Given the description of an element on the screen output the (x, y) to click on. 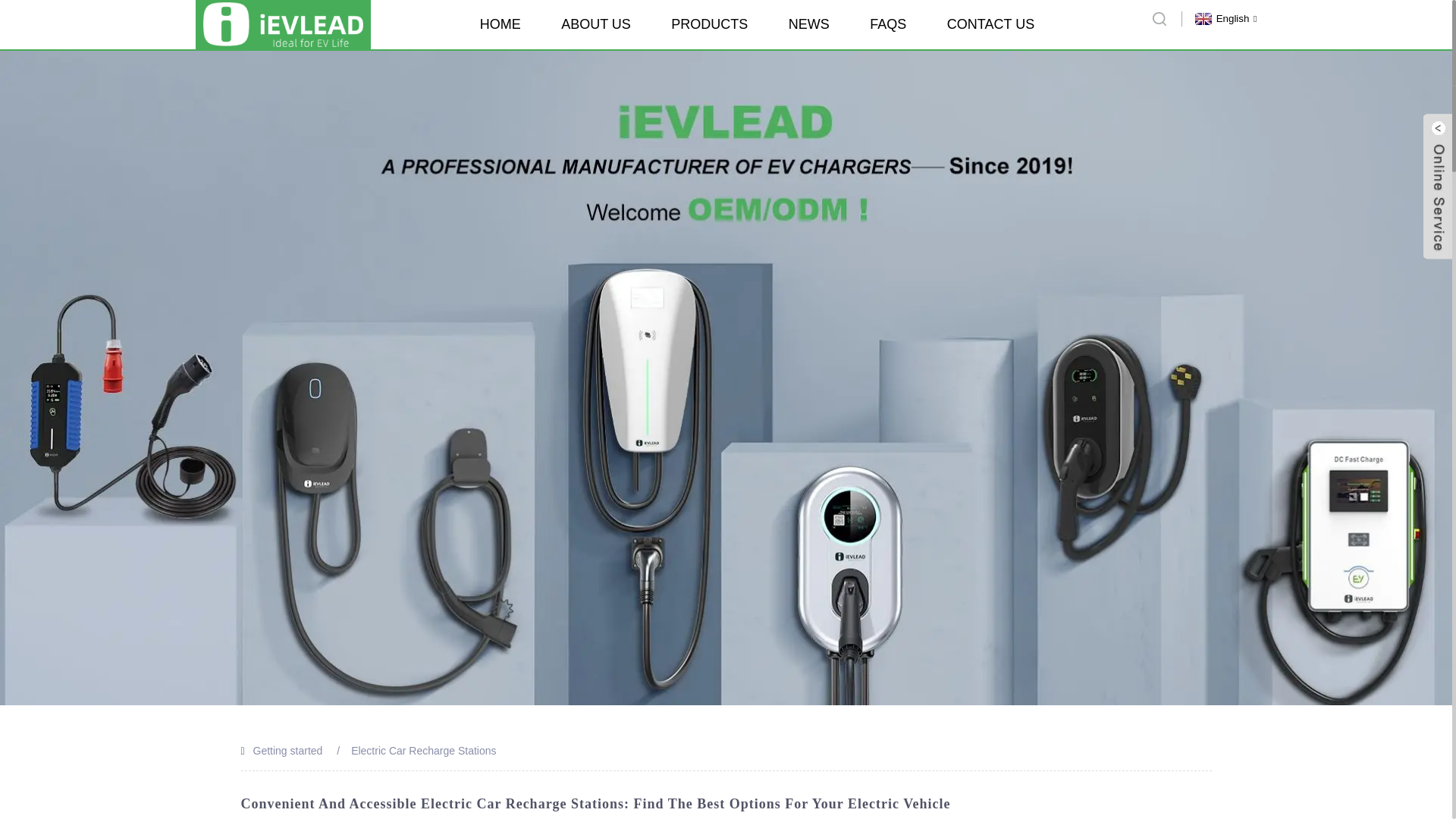
NEWS (809, 23)
PRODUCTS (709, 23)
FAQS (887, 23)
HOME (500, 23)
ABOUT US (595, 23)
CONTACT US (990, 23)
English (1224, 18)
